Given the description of an element on the screen output the (x, y) to click on. 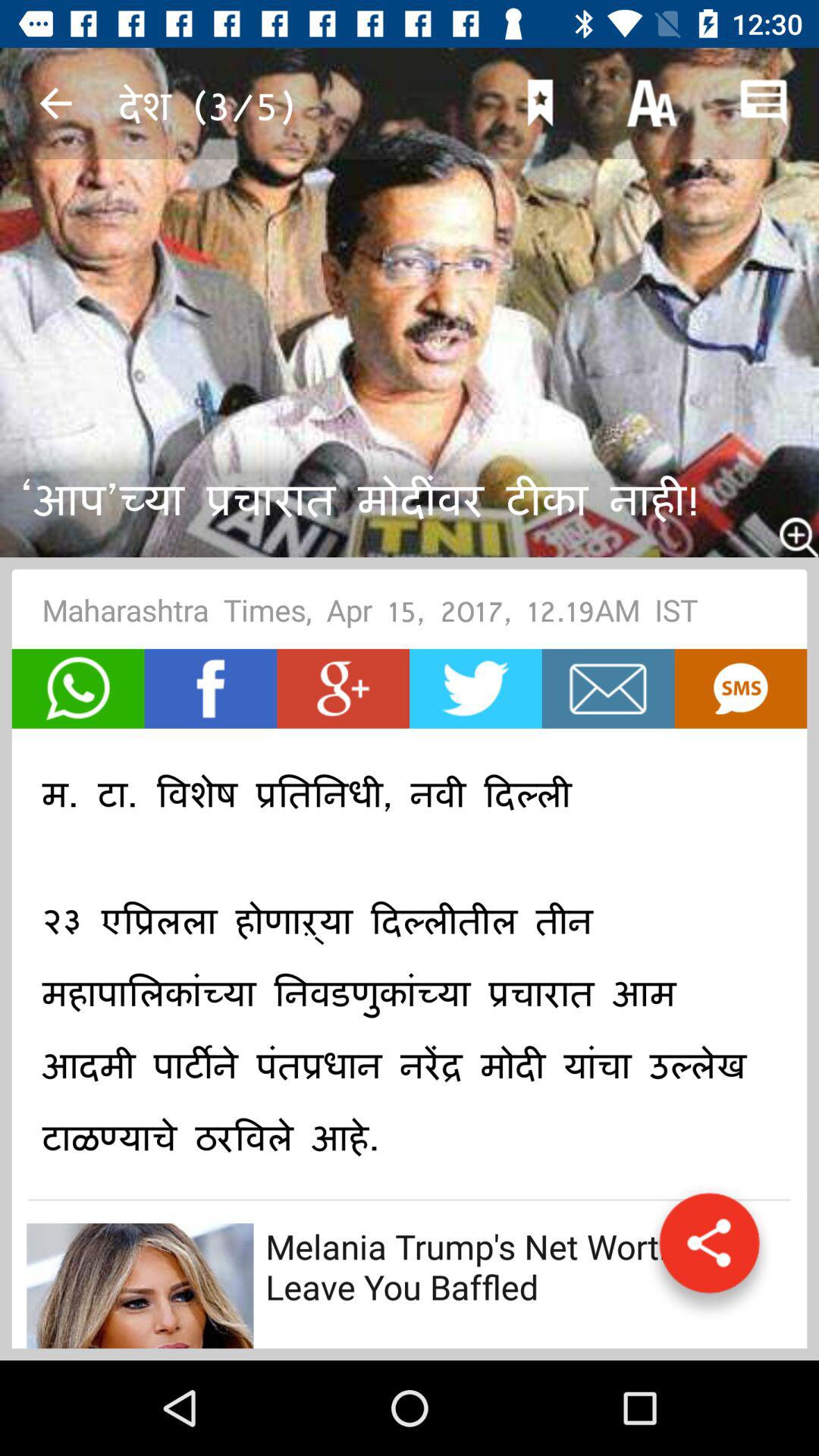
twitter (475, 688)
